Given the description of an element on the screen output the (x, y) to click on. 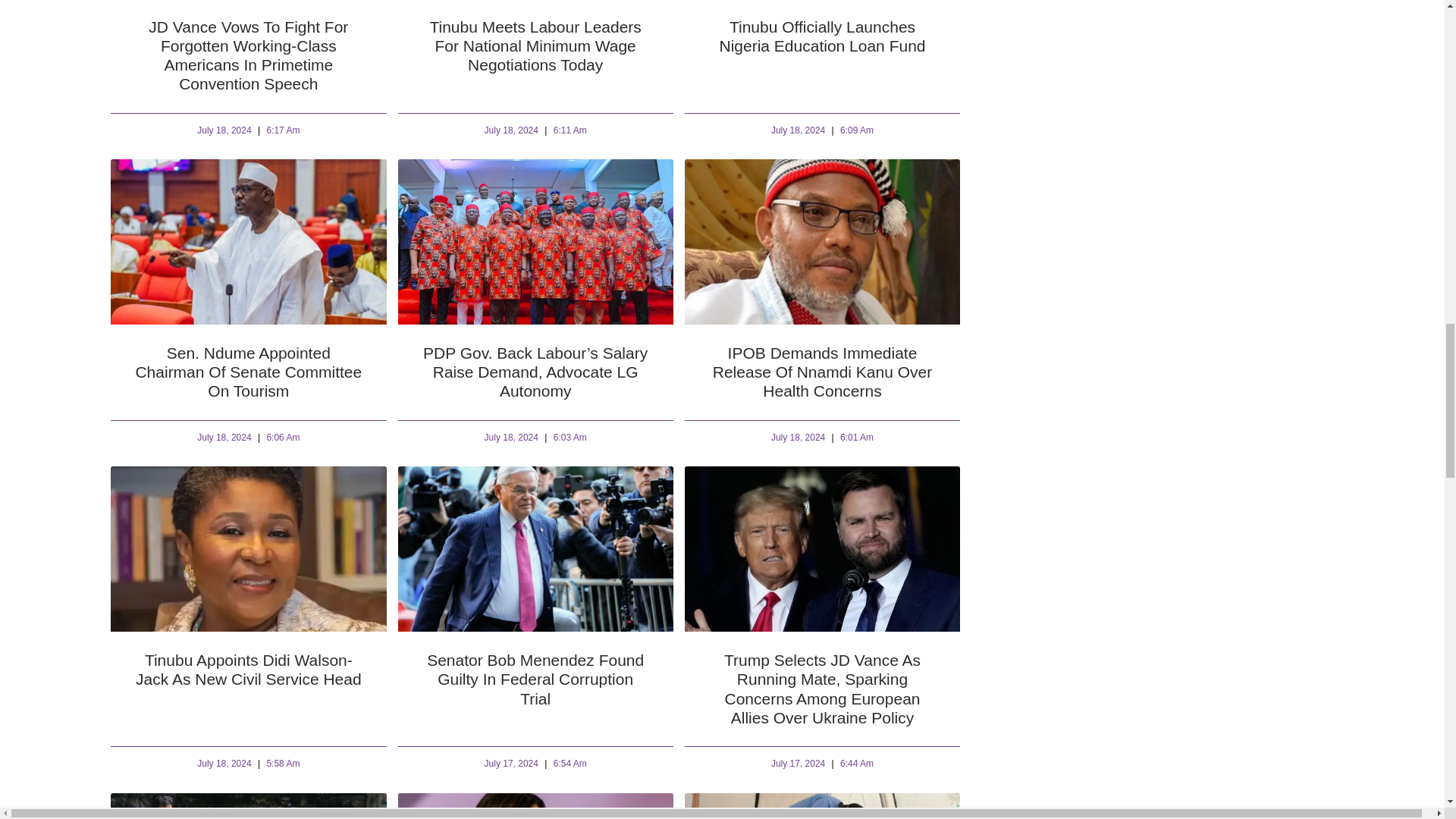
Tinubu Officially Launches Nigeria Education Loan Fund (821, 36)
Sen. Ndume Appointed Chairman Of Senate Committee On Tourism (248, 371)
